Given the description of an element on the screen output the (x, y) to click on. 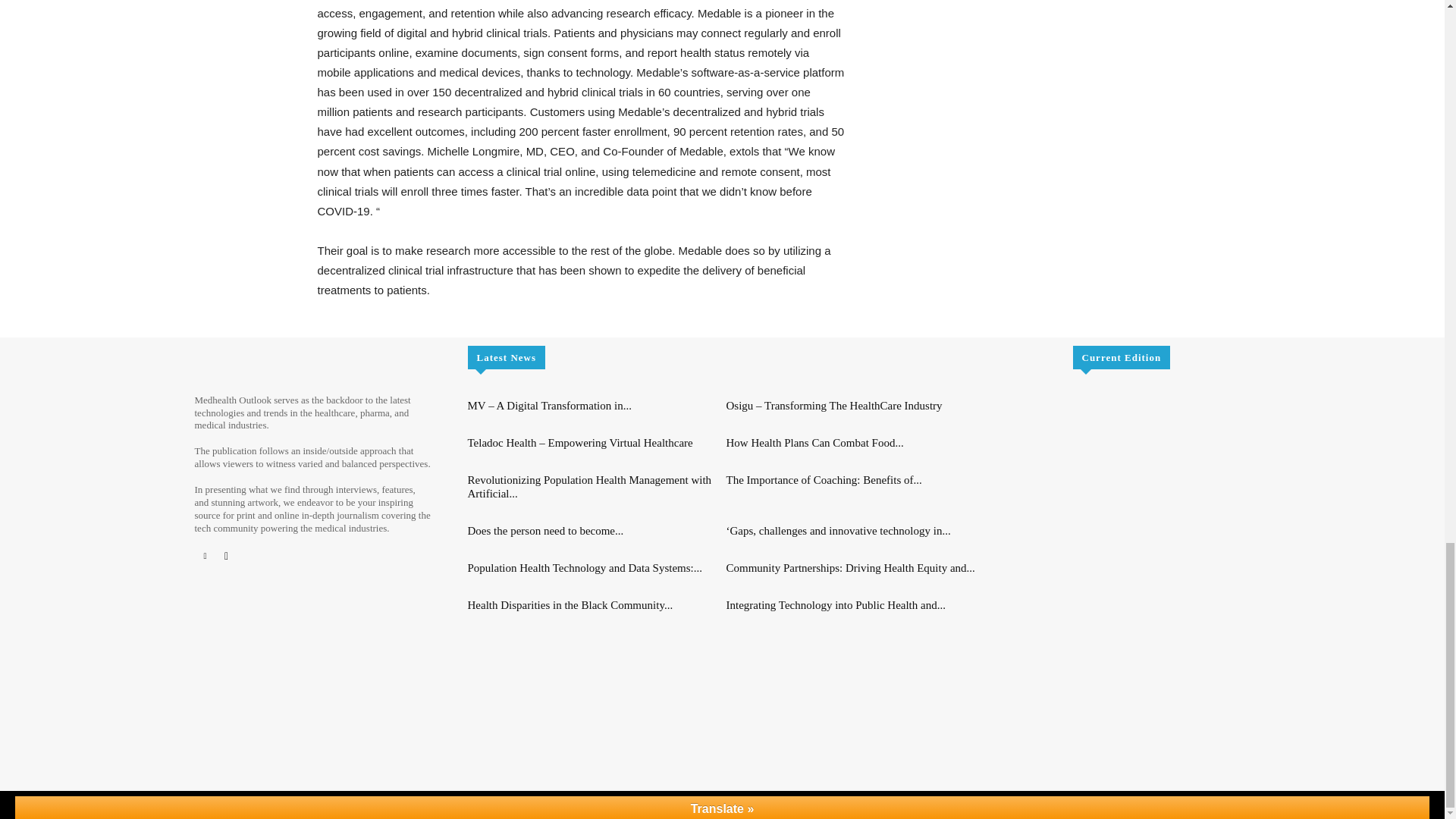
Linkedin (204, 555)
Twitter (225, 555)
